Given the description of an element on the screen output the (x, y) to click on. 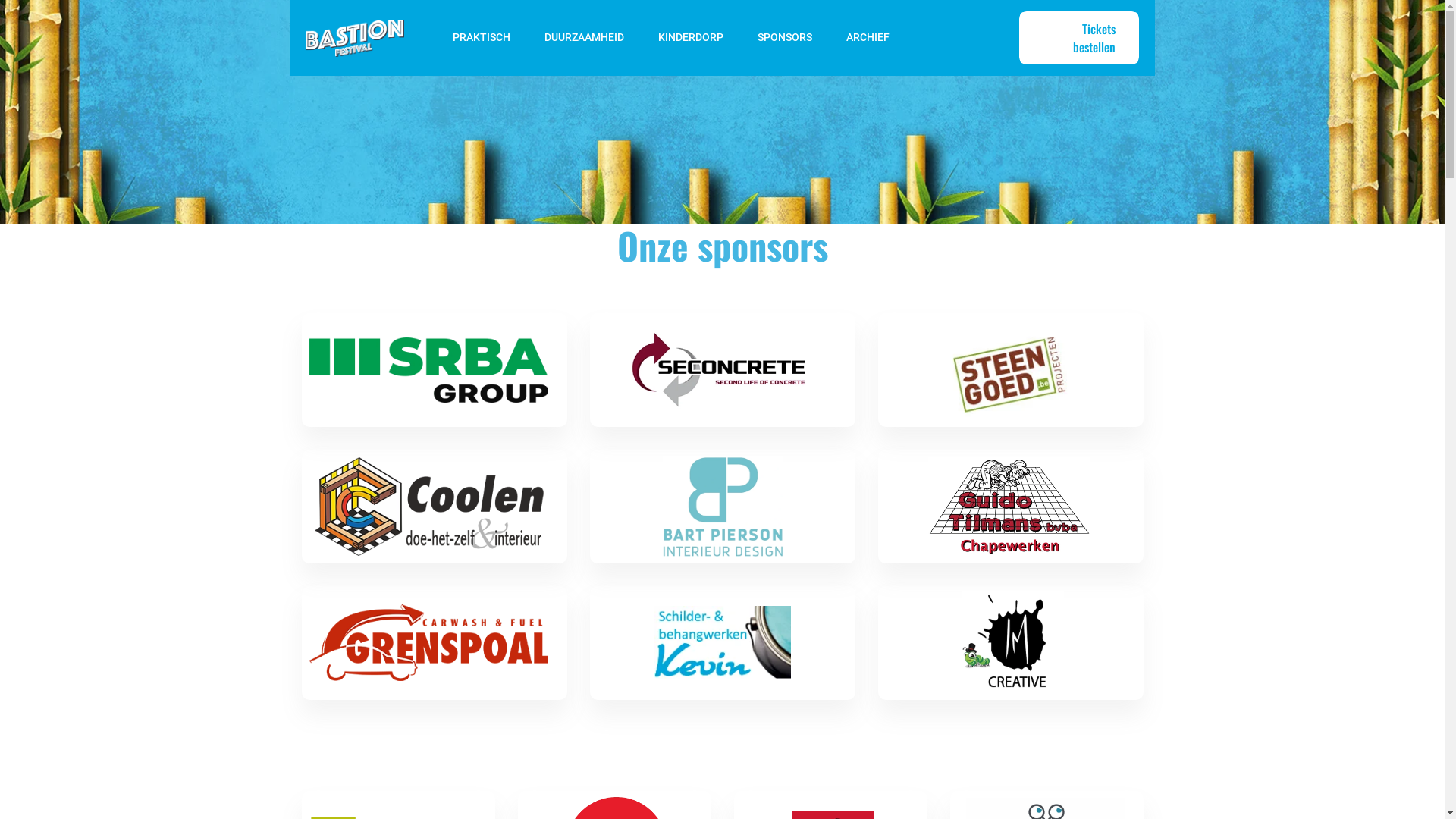
SPONSORS Element type: text (782, 37)
KINDERDORP Element type: text (688, 37)
DUURZAAMHEID Element type: text (581, 37)
Tickets bestellen Element type: text (1079, 37)
PRAKTISCH Element type: text (479, 37)
ARCHIEF Element type: text (865, 37)
